Given the description of an element on the screen output the (x, y) to click on. 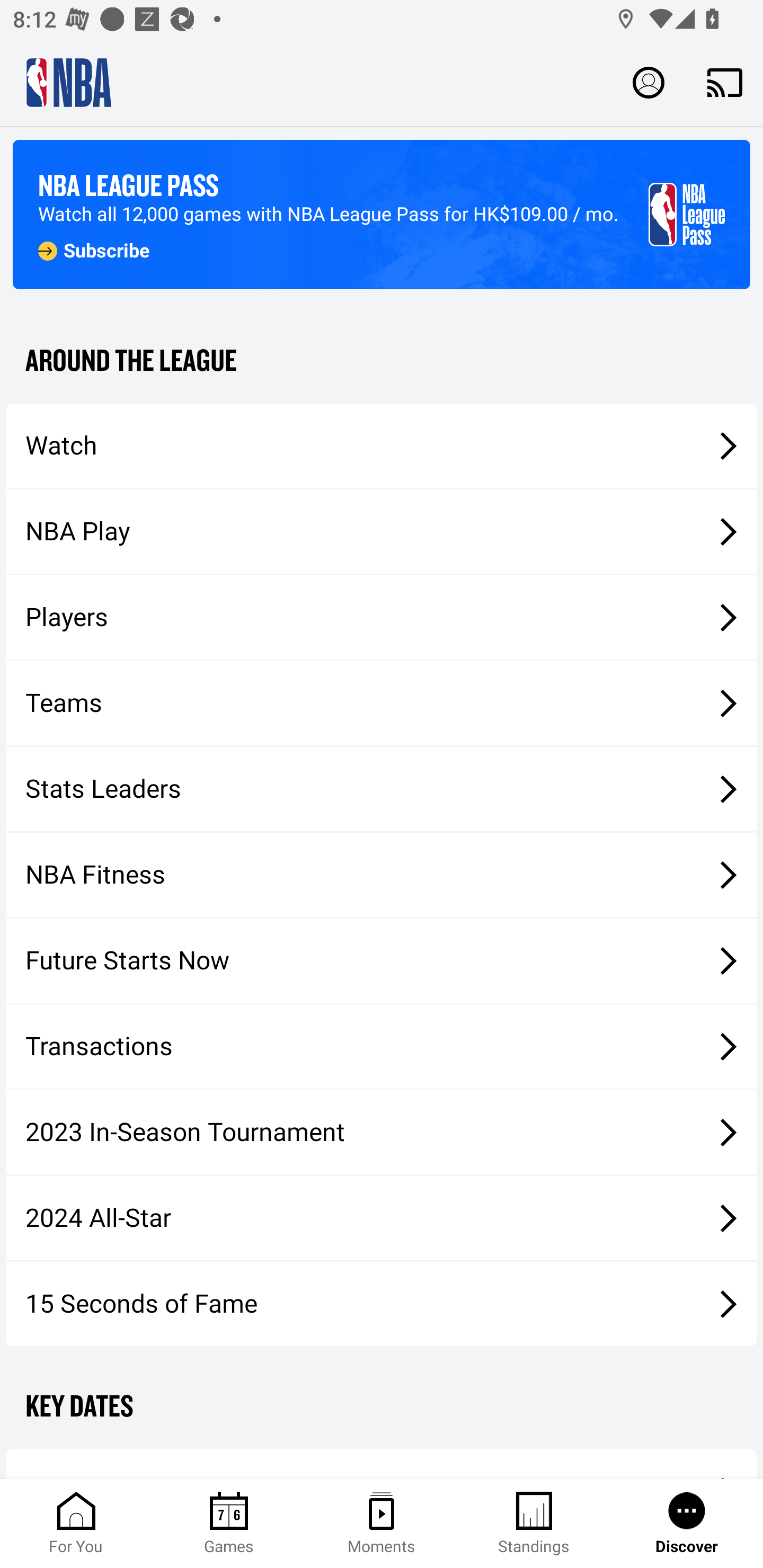
Cast. Disconnected (724, 82)
Profile (648, 81)
Watch (381, 444)
NBA Play (381, 531)
Players (381, 617)
Teams (381, 702)
Stats Leaders (381, 788)
NBA Fitness (381, 874)
Future Starts Now (381, 960)
Transactions (381, 1046)
2023 In-Season Tournament (381, 1131)
2024 All-Star (381, 1218)
15 Seconds of Fame (381, 1303)
For You (76, 1523)
Games (228, 1523)
Moments (381, 1523)
Standings (533, 1523)
